Given the description of an element on the screen output the (x, y) to click on. 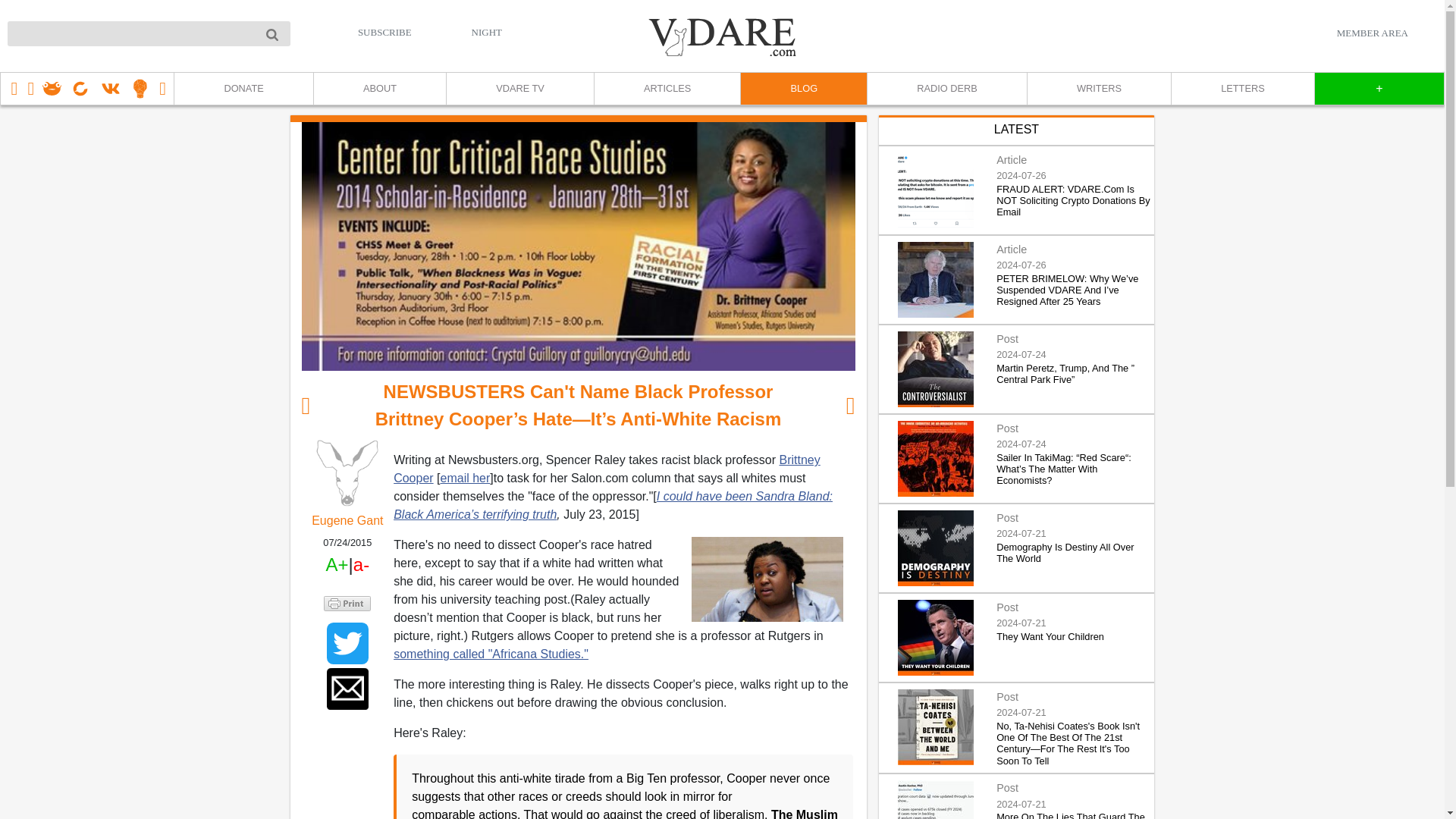
BLOG (802, 88)
SUBSCRIBE (385, 31)
ABOUT (379, 88)
WRITERS (1098, 88)
Share to Email (347, 689)
VDARE TV (519, 88)
RADIO DERB (946, 88)
LETTERS (1242, 88)
DONATE (243, 88)
MEMBER AREA (1371, 32)
ARTICLES (666, 88)
Share to Twitter (347, 643)
Printer Friendly and PDF (347, 602)
